Given the description of an element on the screen output the (x, y) to click on. 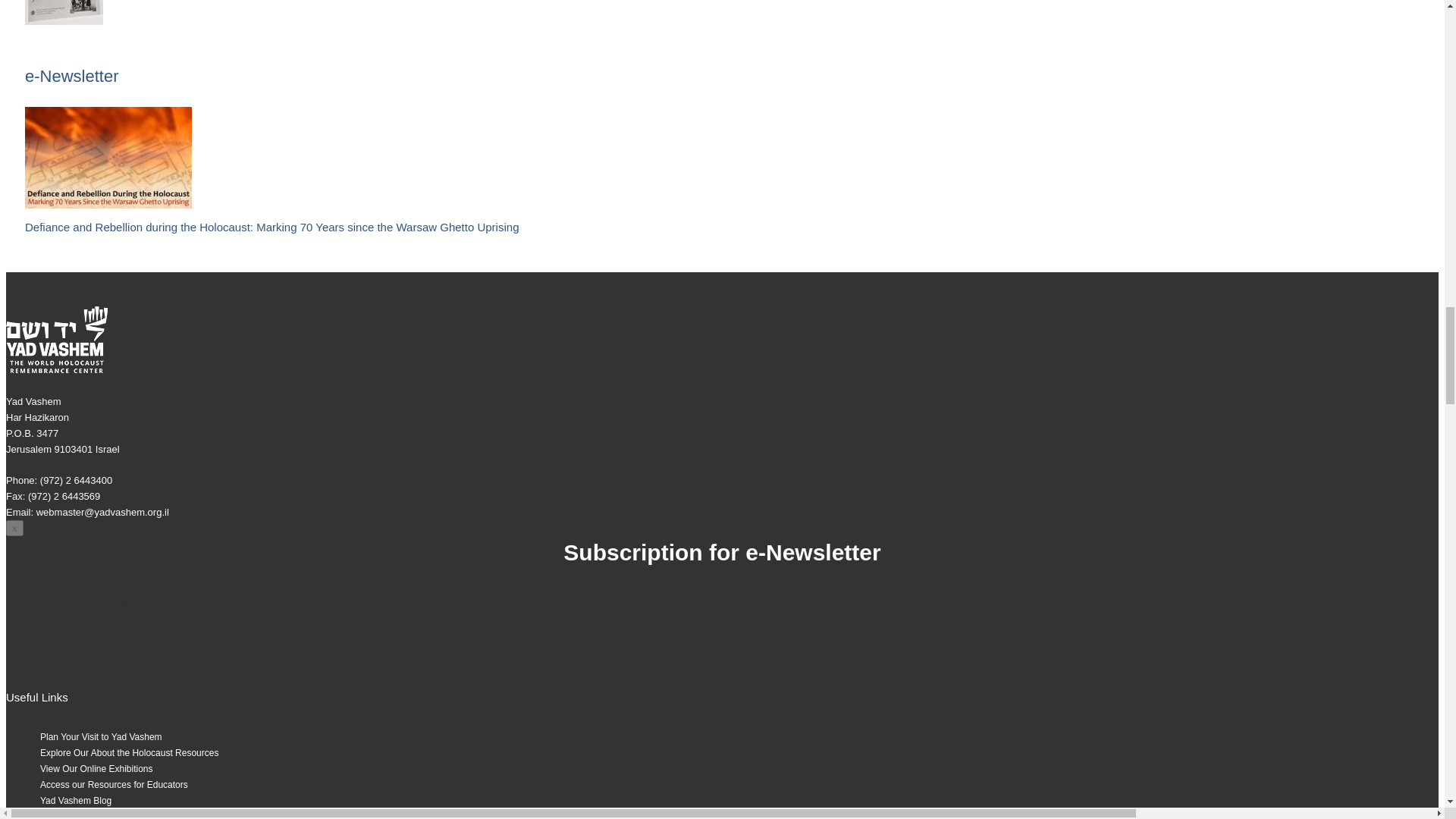
Everyday Life in the Warsaw Ghetto (63, 12)
